Given the description of an element on the screen output the (x, y) to click on. 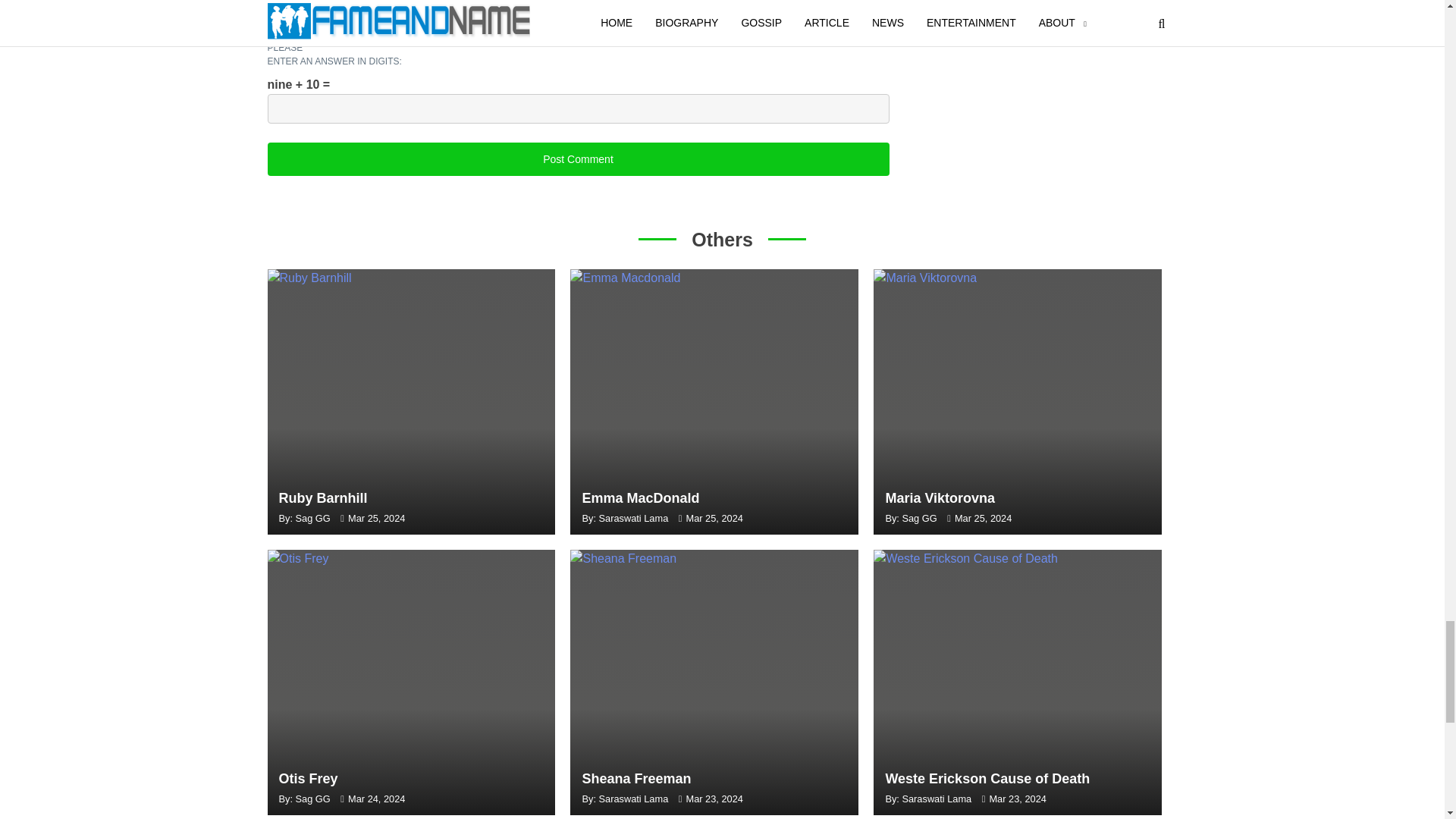
Post Comment (577, 159)
yes (297, 35)
Post Comment (577, 159)
